Given the description of an element on the screen output the (x, y) to click on. 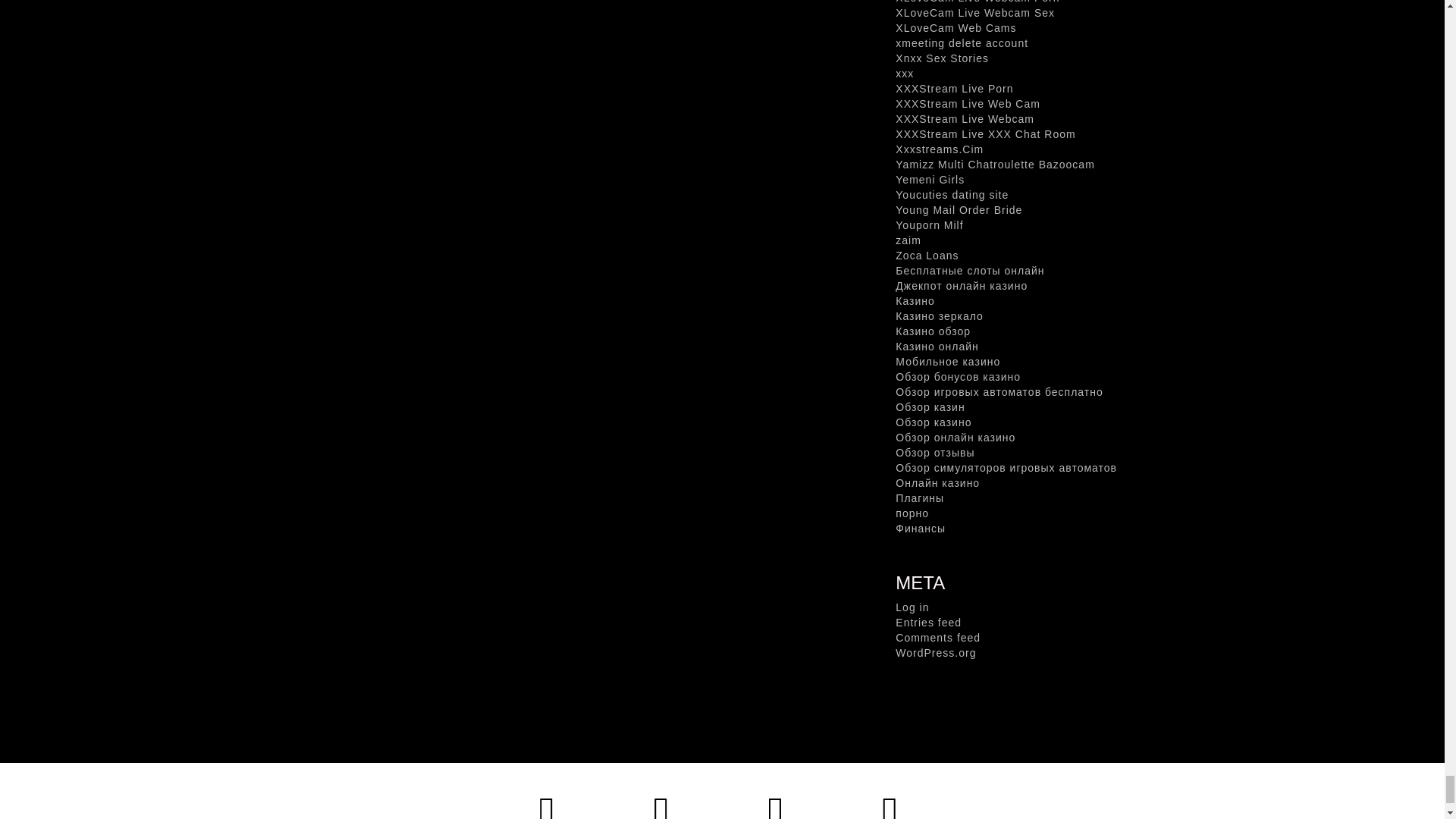
Instagram (776, 793)
Twitter (546, 793)
Facebook (661, 793)
